Given the description of an element on the screen output the (x, y) to click on. 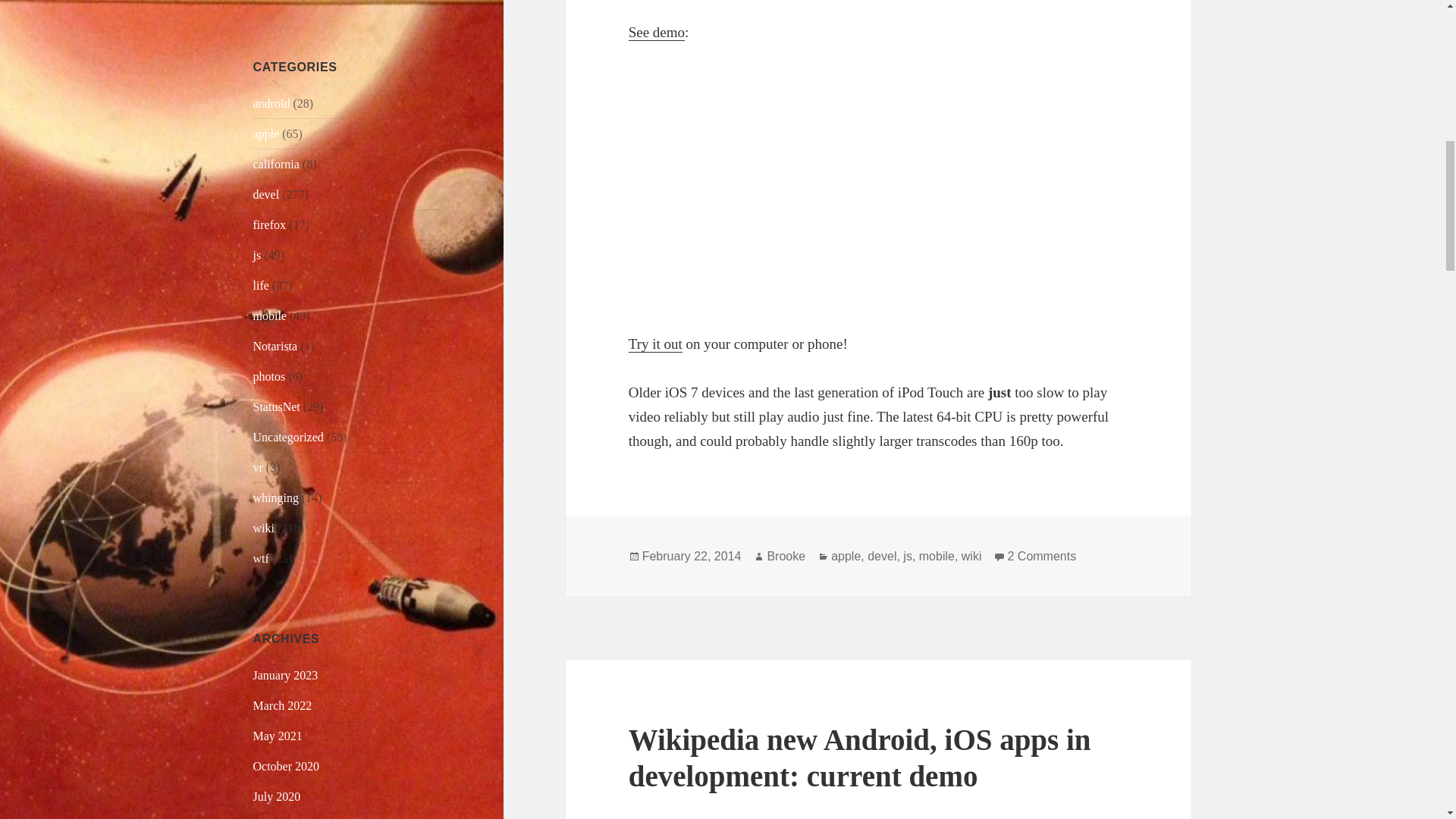
whinging (275, 497)
photos (269, 376)
July 2020 (277, 796)
life (261, 285)
October 2020 (286, 766)
wtf (261, 558)
wiki (264, 527)
android (271, 103)
firefox (269, 224)
May 2021 (277, 735)
